Given the description of an element on the screen output the (x, y) to click on. 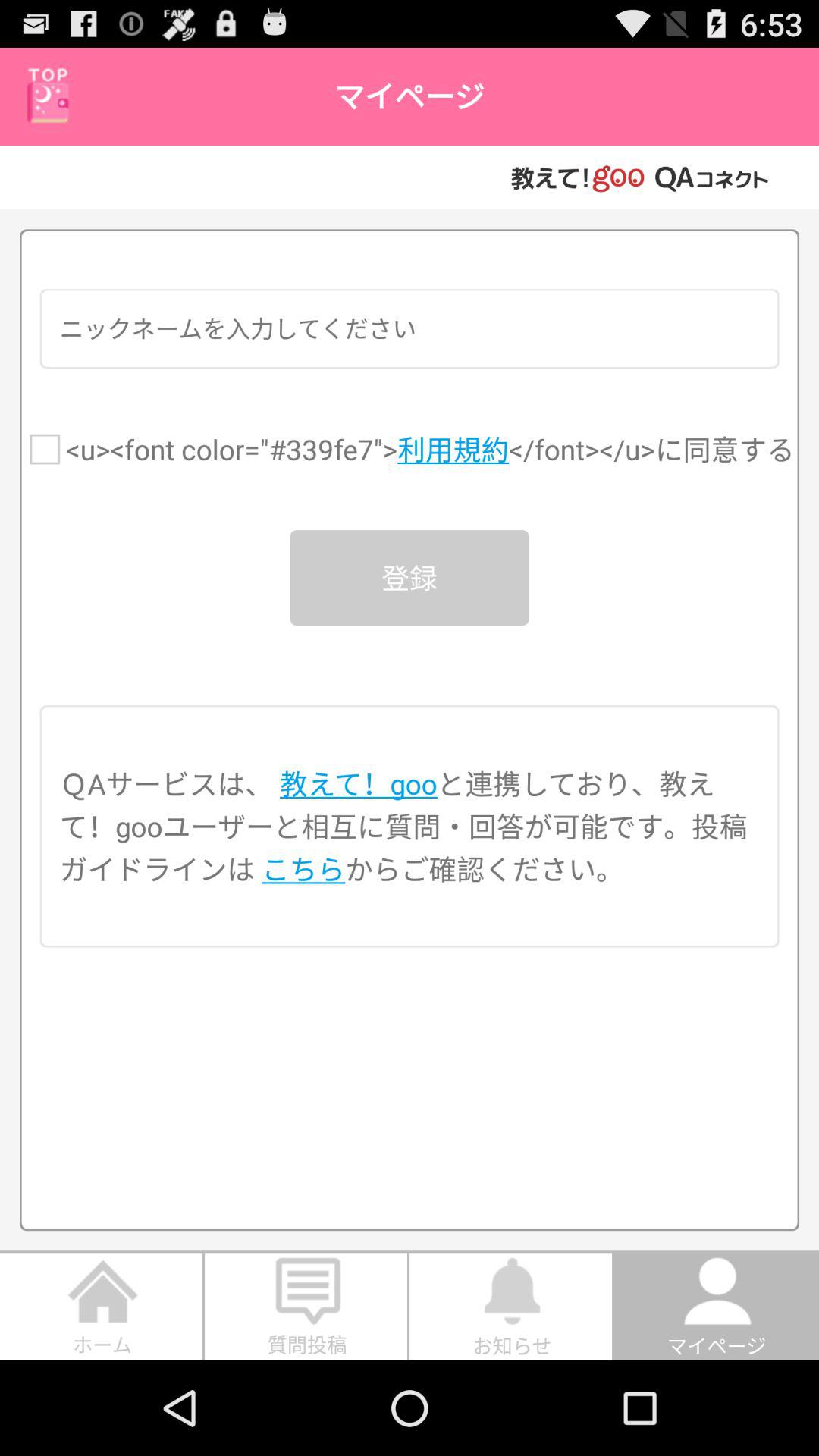
click the item below the u font color icon (409, 577)
